Given the description of an element on the screen output the (x, y) to click on. 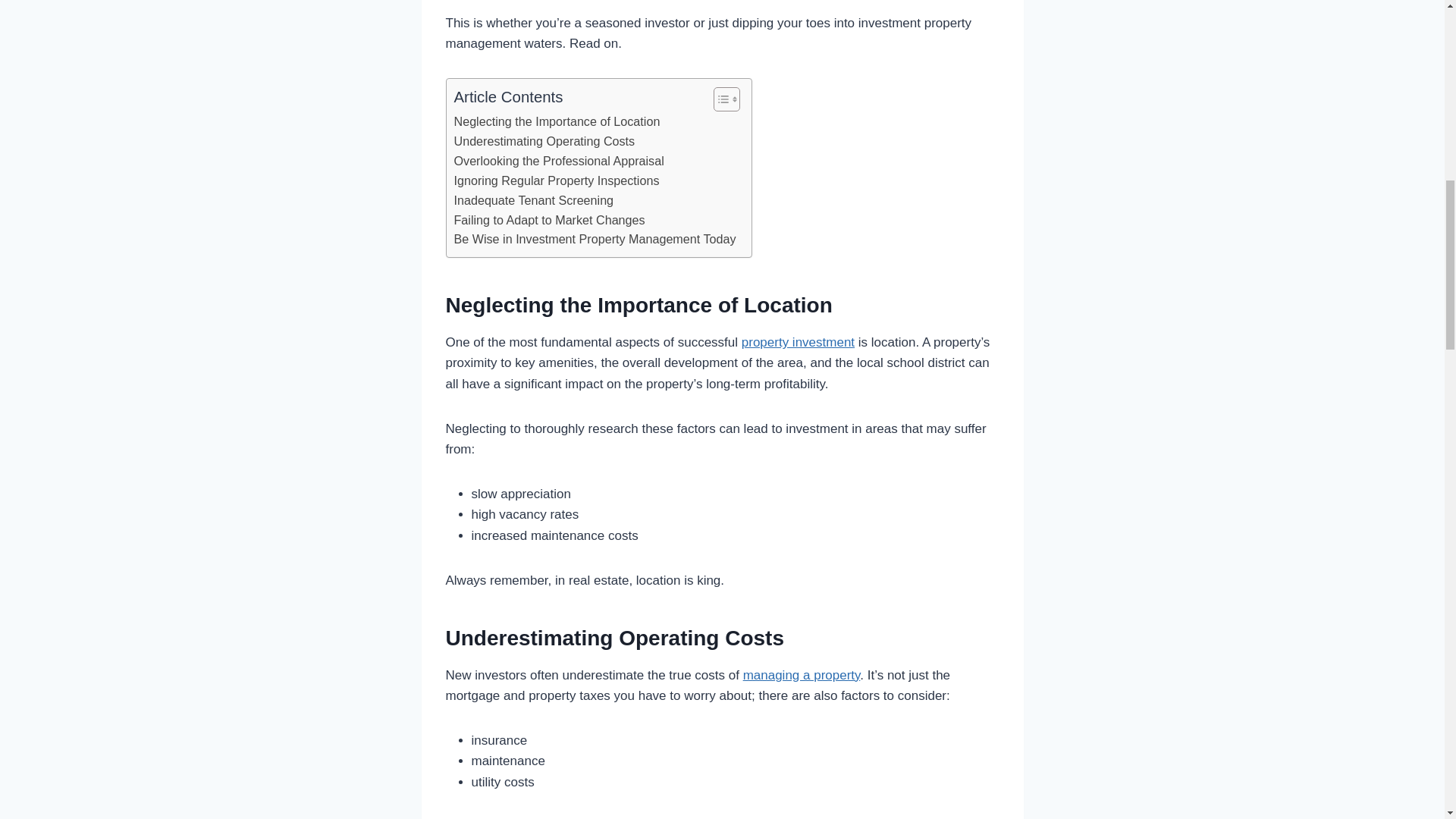
Inadequate Tenant Screening (532, 200)
Neglecting the Importance of Location (555, 121)
Inadequate Tenant Screening (532, 200)
Neglecting the Importance of Location (555, 121)
managing a property (801, 675)
Underestimating Operating Costs (543, 141)
Failing to Adapt to Market Changes (548, 220)
property investment (797, 341)
Ignoring Regular Property Inspections (555, 180)
Underestimating Operating Costs (543, 141)
Ignoring Regular Property Inspections (555, 180)
Overlooking the Professional Appraisal (557, 161)
Be Wise in Investment Property Management Today (593, 239)
Failing to Adapt to Market Changes (548, 220)
Overlooking the Professional Appraisal (557, 161)
